Given the description of an element on the screen output the (x, y) to click on. 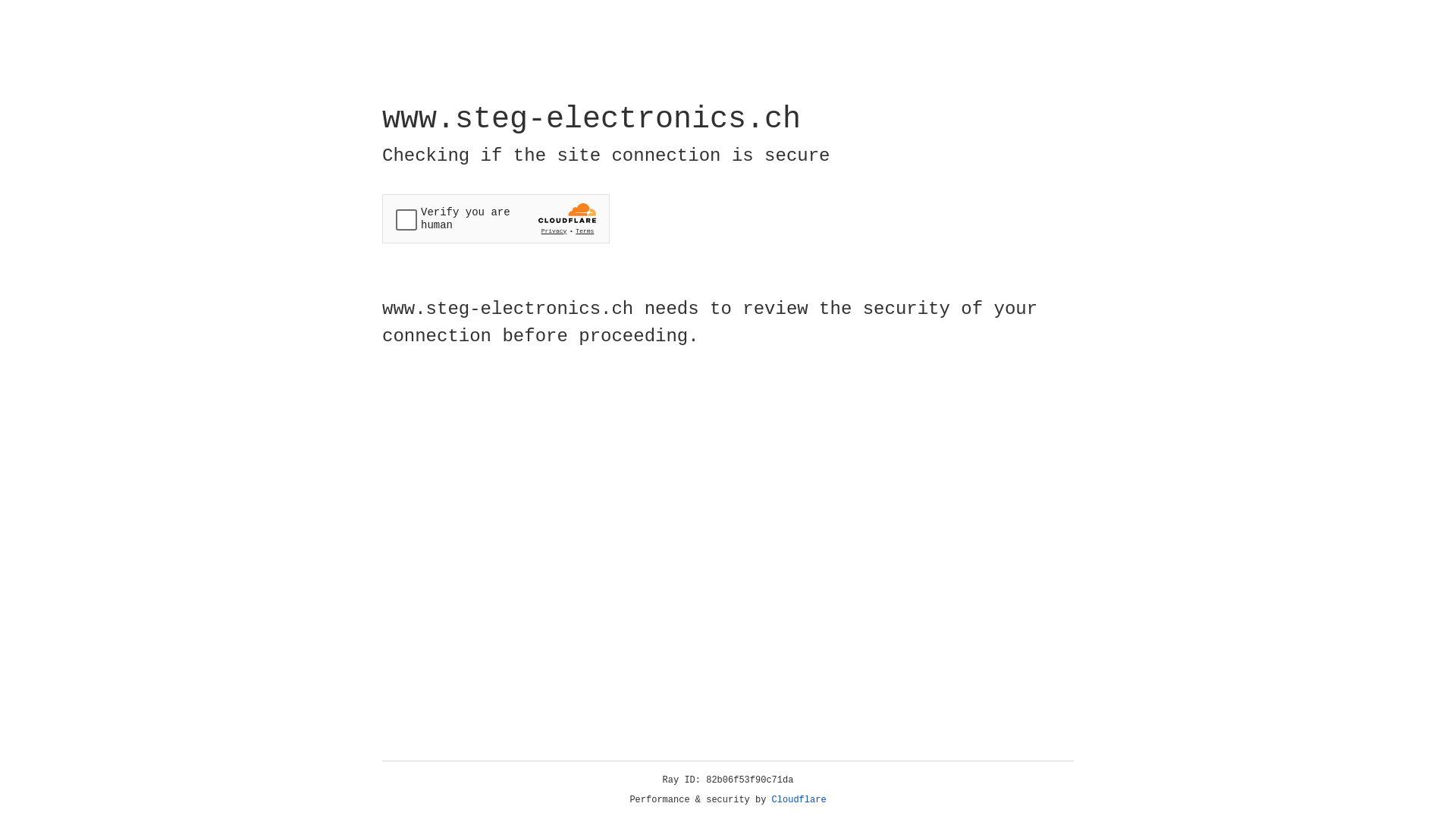
Widget containing a Cloudflare security challenge Element type: hover (495, 218)
Cloudflare Element type: text (798, 799)
